Given the description of an element on the screen output the (x, y) to click on. 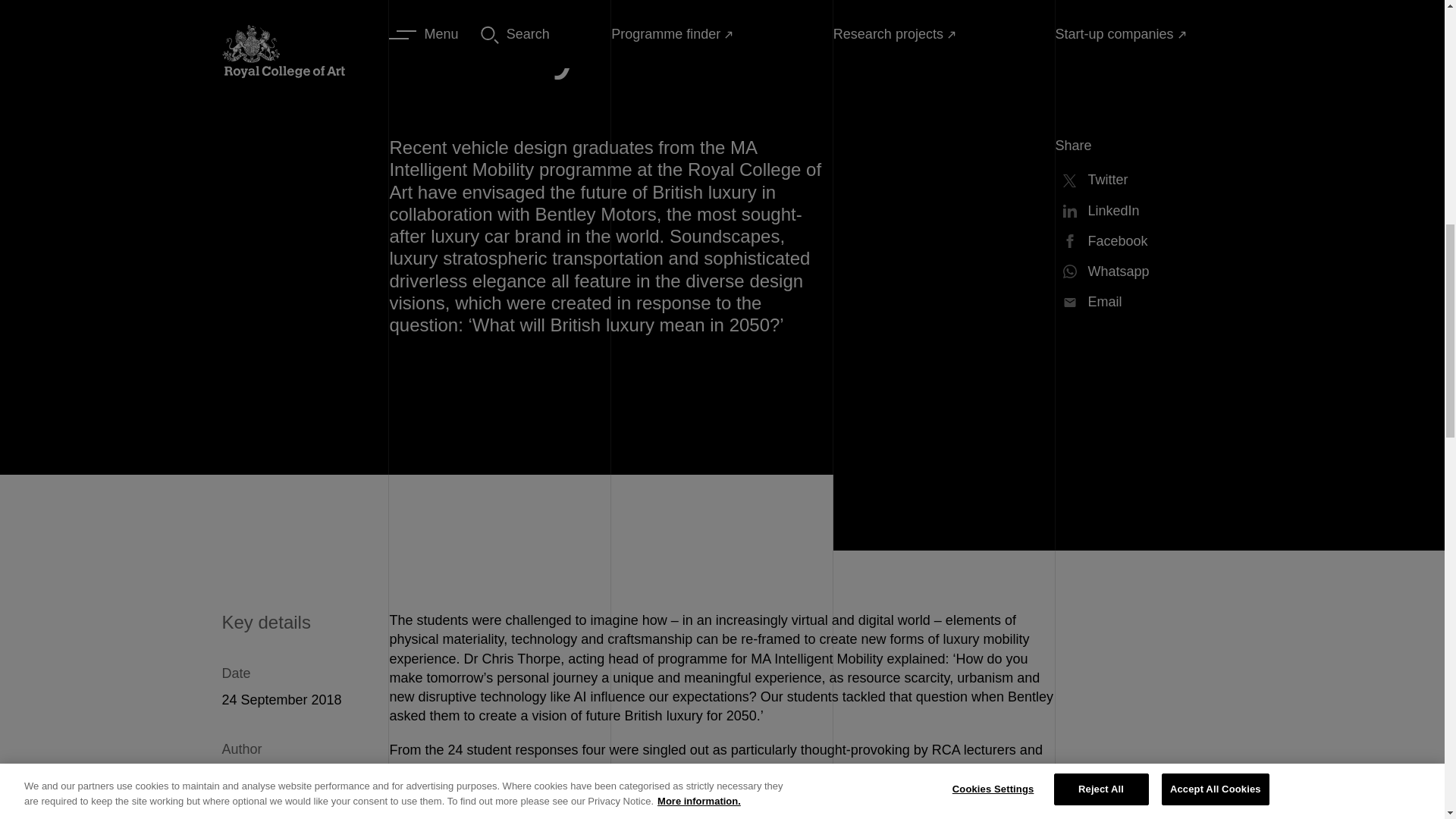
Share on LinkedIn (1139, 210)
Share on Facebook (1139, 240)
Share on Whatsapp (1139, 271)
Share on email (1139, 302)
Share on Twitter (1139, 179)
